Given the description of an element on the screen output the (x, y) to click on. 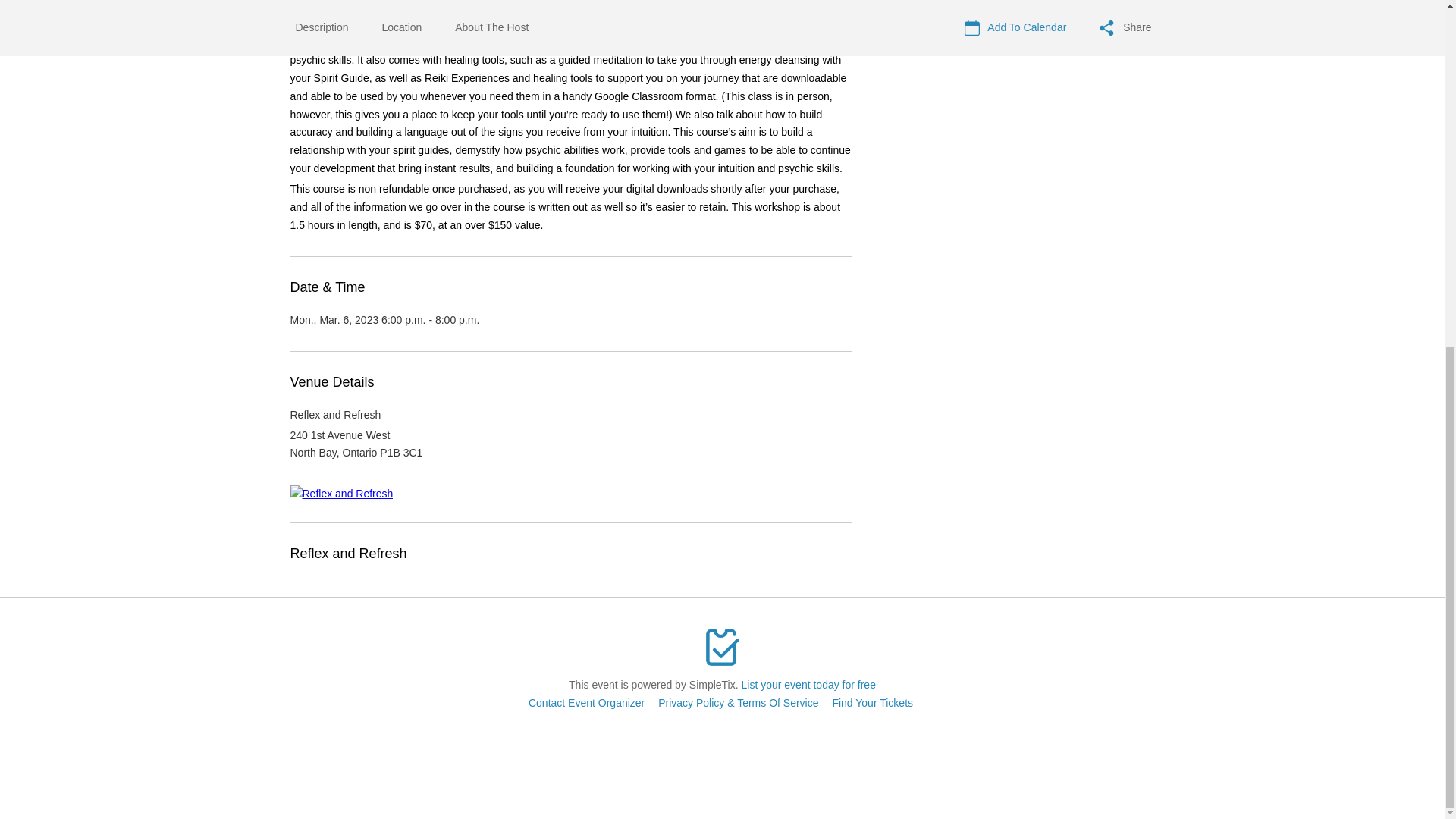
Find Your Tickets (871, 702)
Powered by SimpleTix (721, 646)
List your event today for free (808, 684)
Contact Event Organizer (586, 702)
List your event today for free (808, 684)
Contact Event Organizer (586, 702)
Find Your Tickets (871, 702)
